Given the description of an element on the screen output the (x, y) to click on. 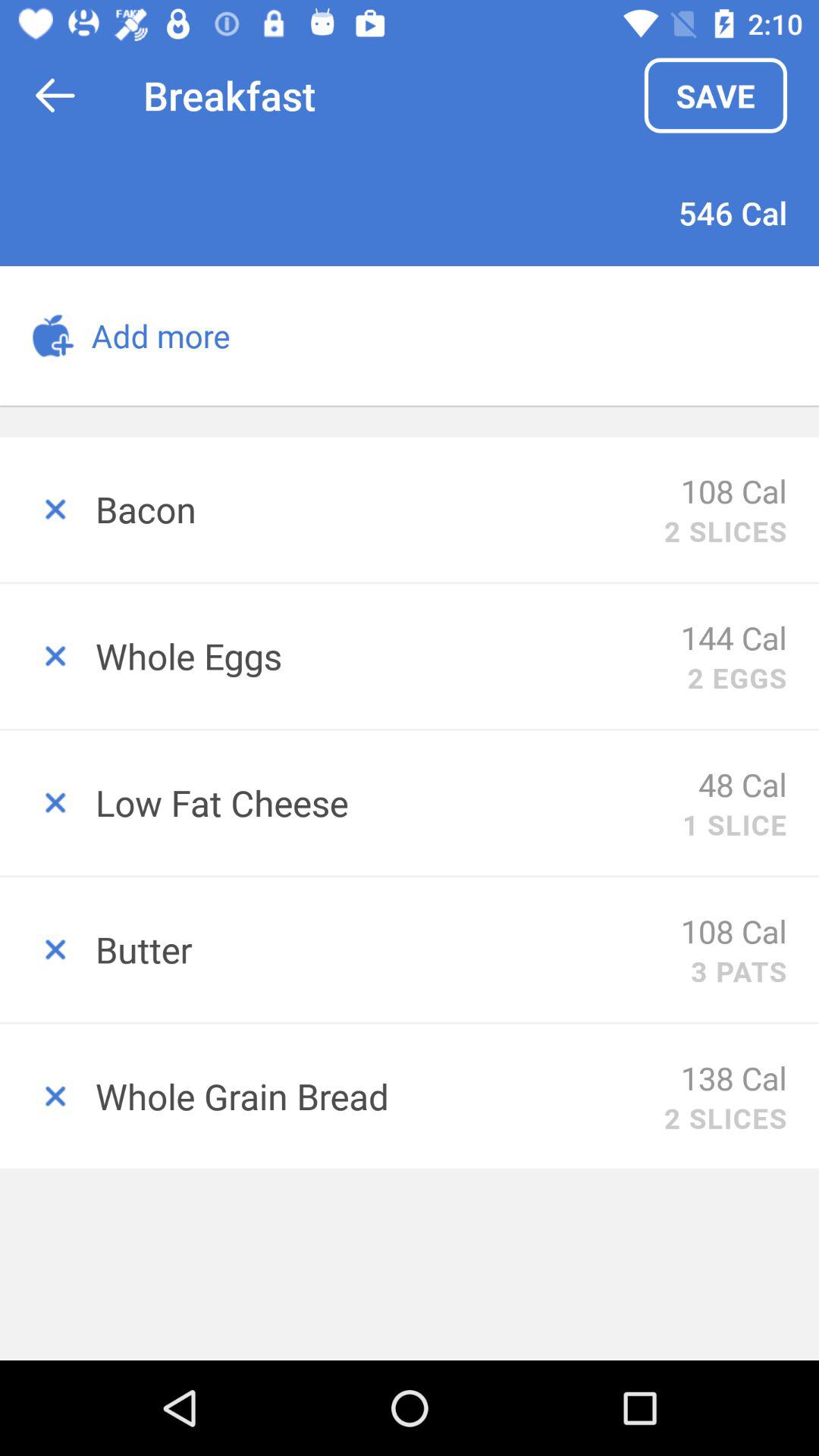
turn on the low fat cheese (388, 802)
